Given the description of an element on the screen output the (x, y) to click on. 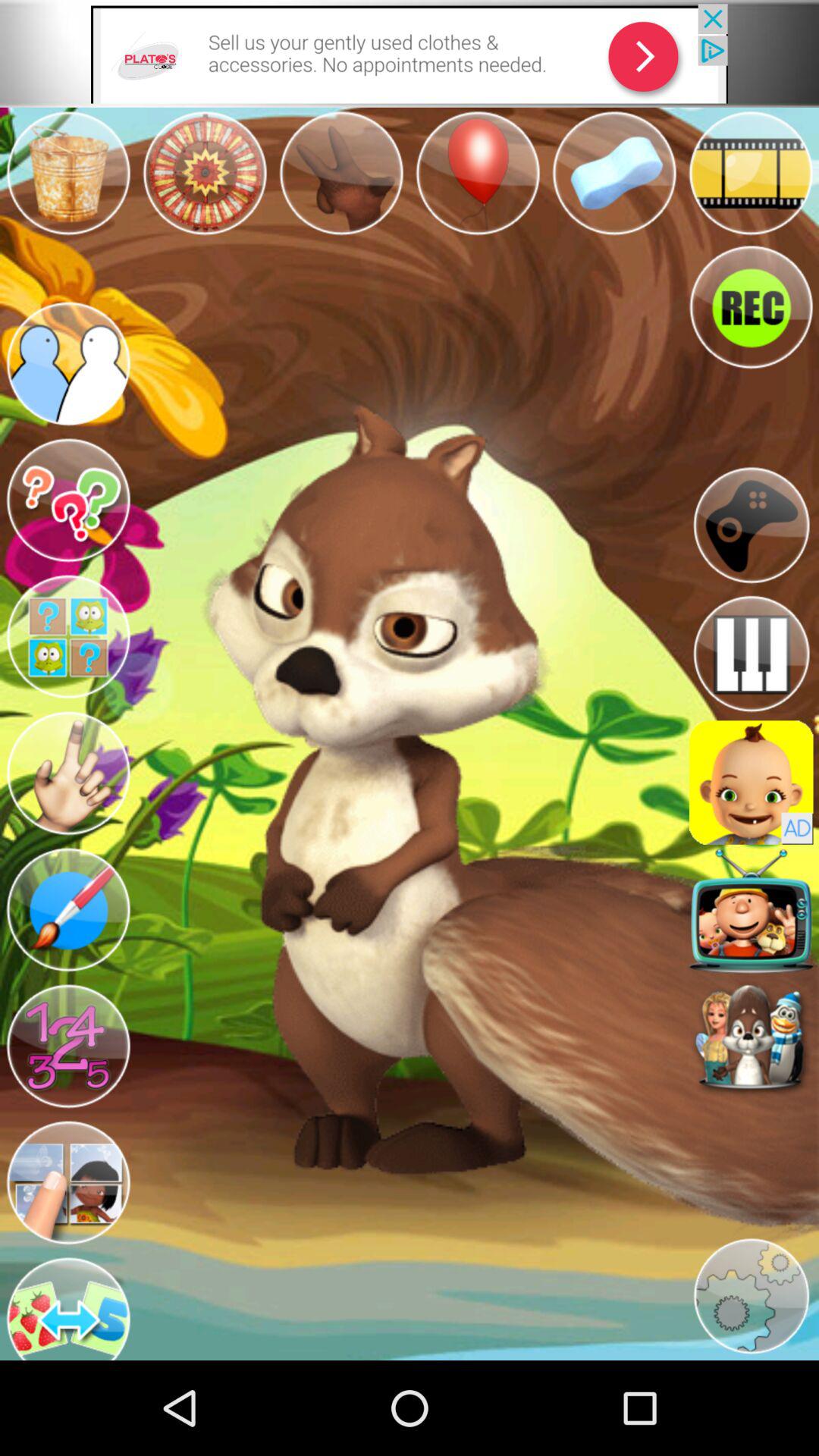
edit character (68, 909)
